Given the description of an element on the screen output the (x, y) to click on. 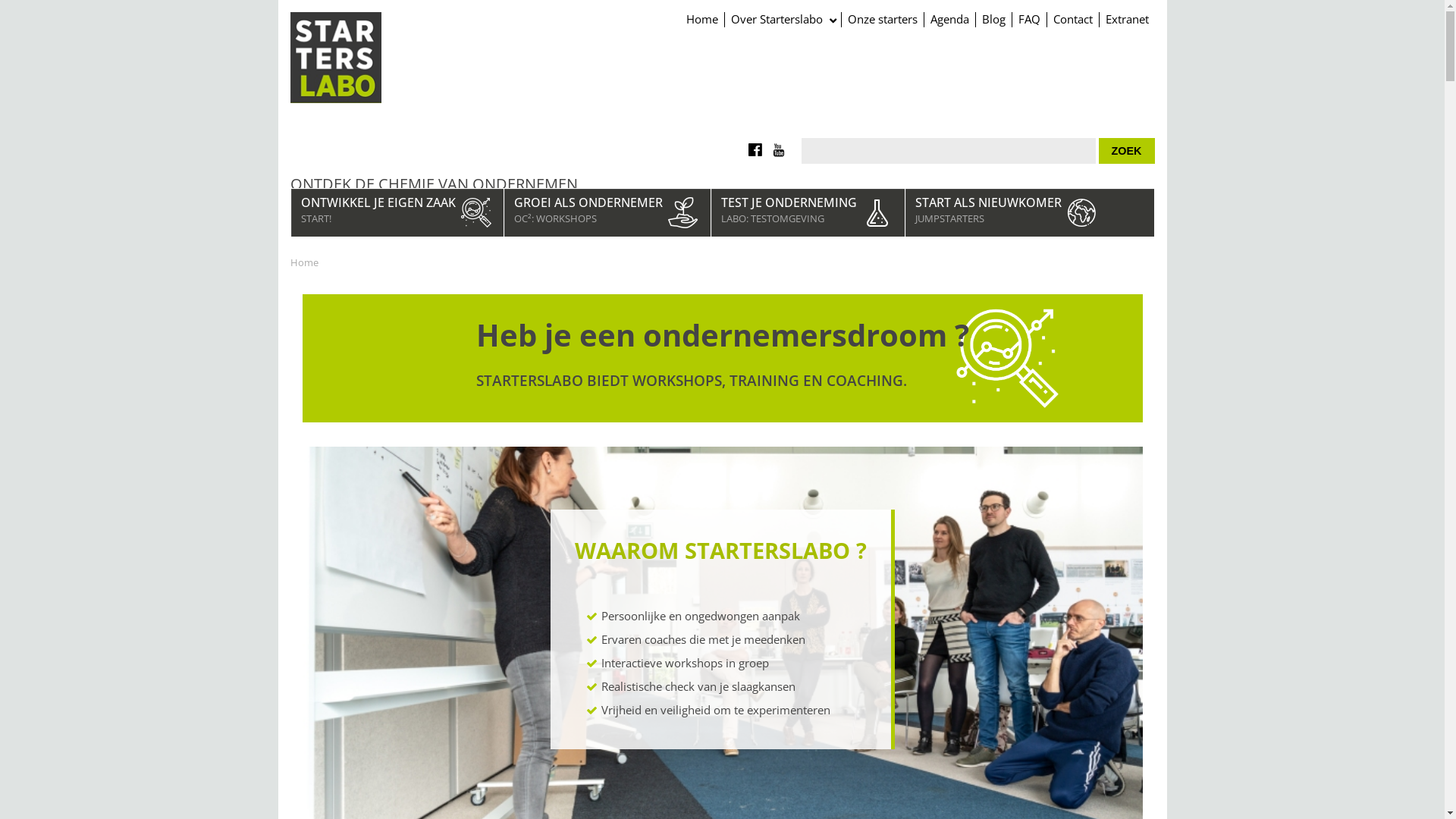
Over Starterslabo Element type: text (781, 19)
Home Element type: text (701, 19)
Extranet Element type: text (1126, 19)
Contact Element type: text (1072, 19)
Starterslabo Element type: text (334, 57)
Onze starters Element type: text (881, 19)
FAQ Element type: text (1028, 19)
Agenda Element type: text (949, 19)
Zoek Element type: text (1126, 150)
Blog Element type: text (993, 19)
